Given the description of an element on the screen output the (x, y) to click on. 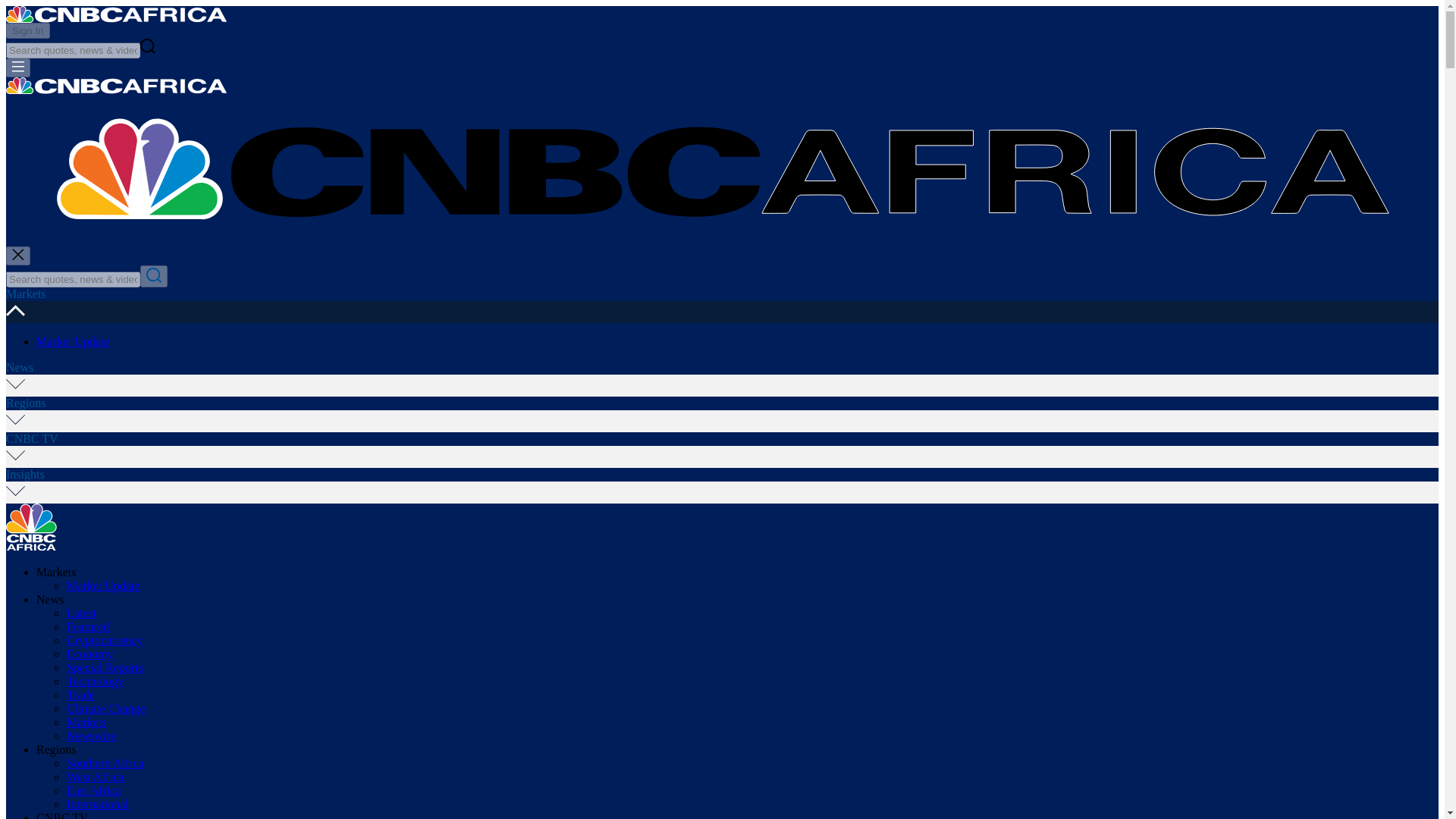
Featured (87, 626)
Open menu (17, 66)
Cryptocurrency (104, 640)
CNBC TV (31, 438)
Markets (25, 293)
Trade (80, 694)
Regions (25, 402)
Special Reports (104, 667)
Market Update (102, 585)
Sign In (27, 30)
Insights (25, 473)
Open menu (17, 67)
Technology (94, 680)
Climate Change (105, 707)
West Africa (94, 776)
